Given the description of an element on the screen output the (x, y) to click on. 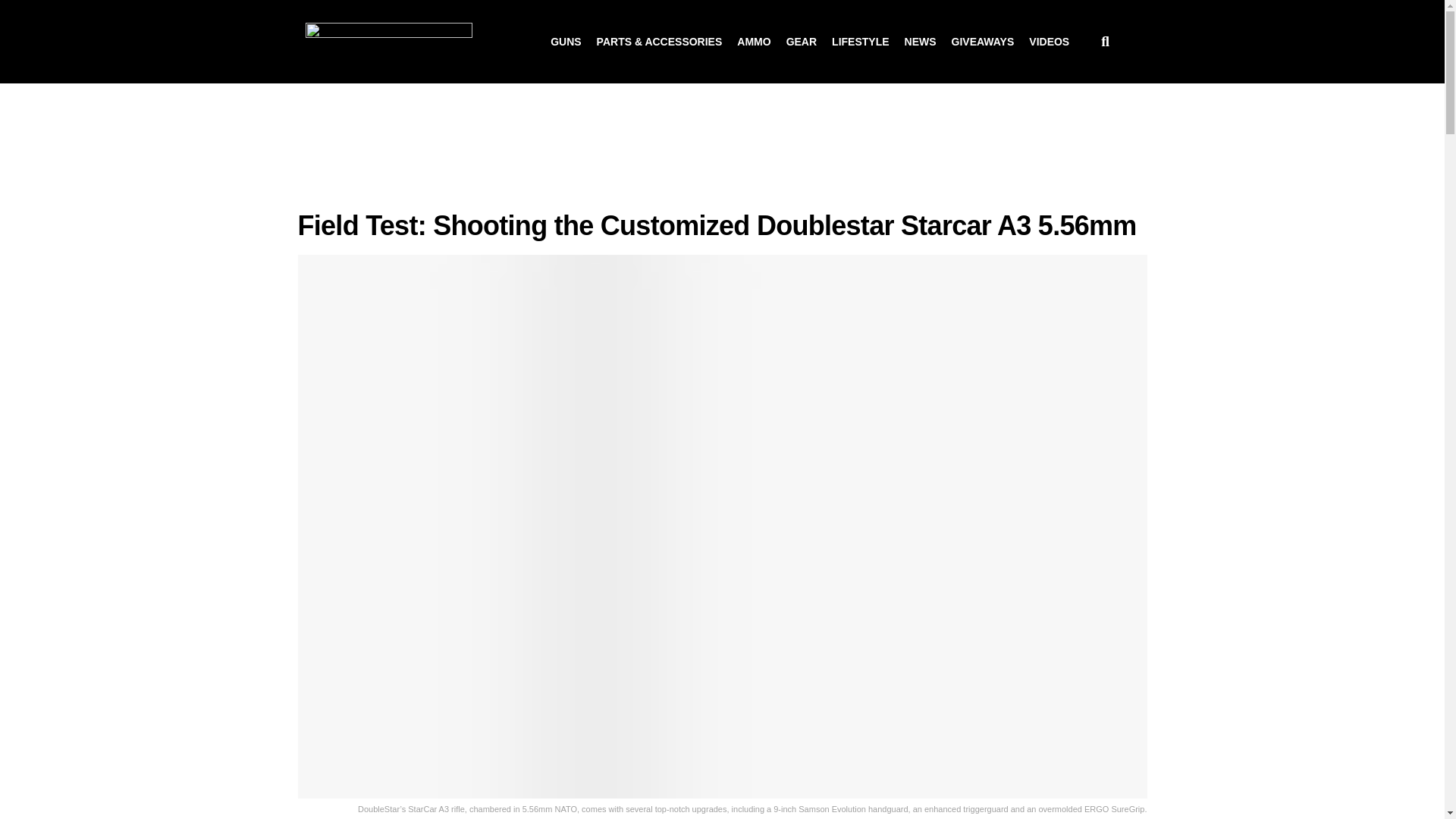
3rd party ad content (722, 147)
GUNS (565, 41)
GEAR (801, 41)
AMMO (753, 41)
LIFESTYLE (860, 41)
